Given the description of an element on the screen output the (x, y) to click on. 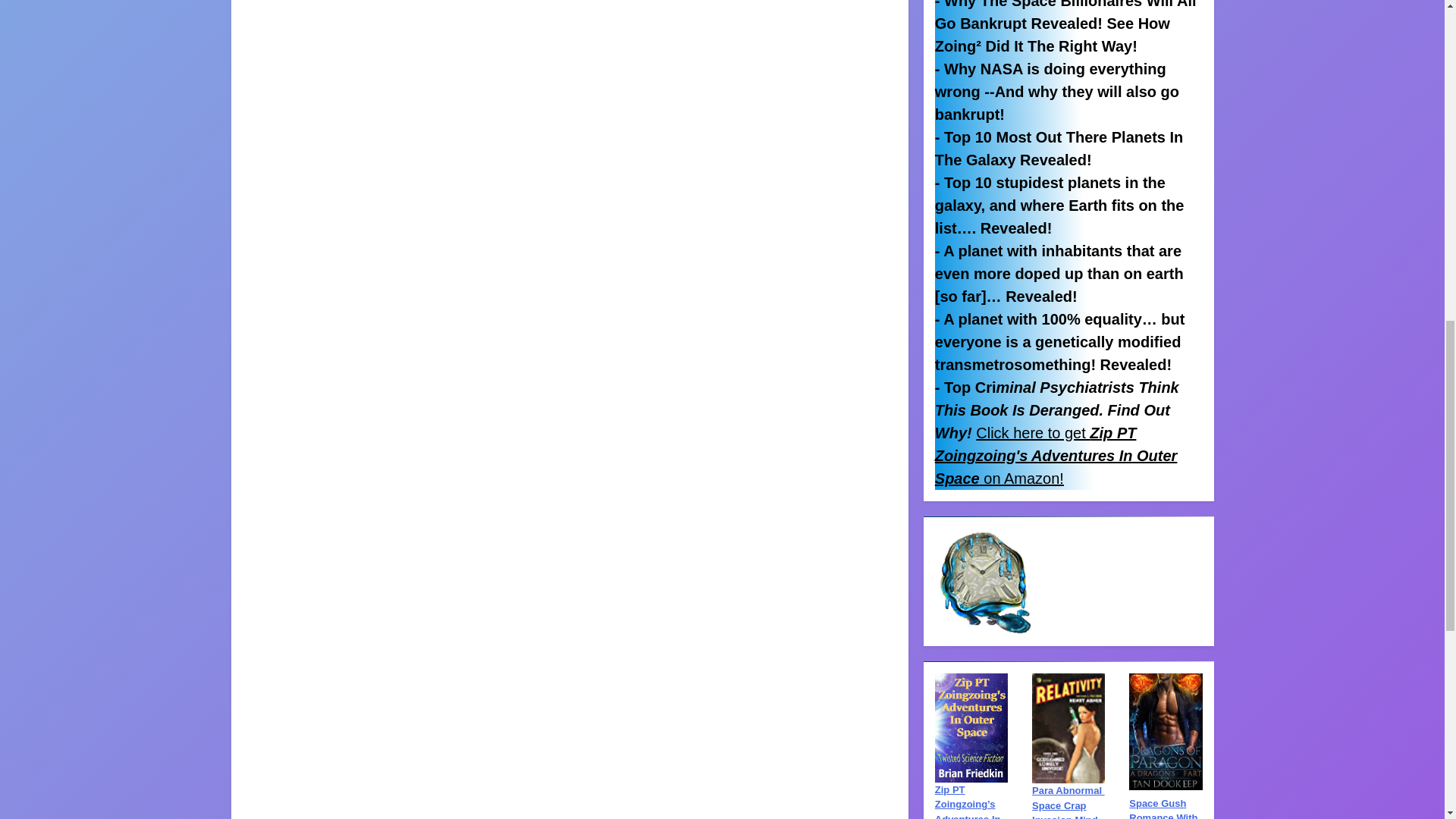
Para Abnormal Space Crap Invasion Mind Readers (1068, 801)
